Given the description of an element on the screen output the (x, y) to click on. 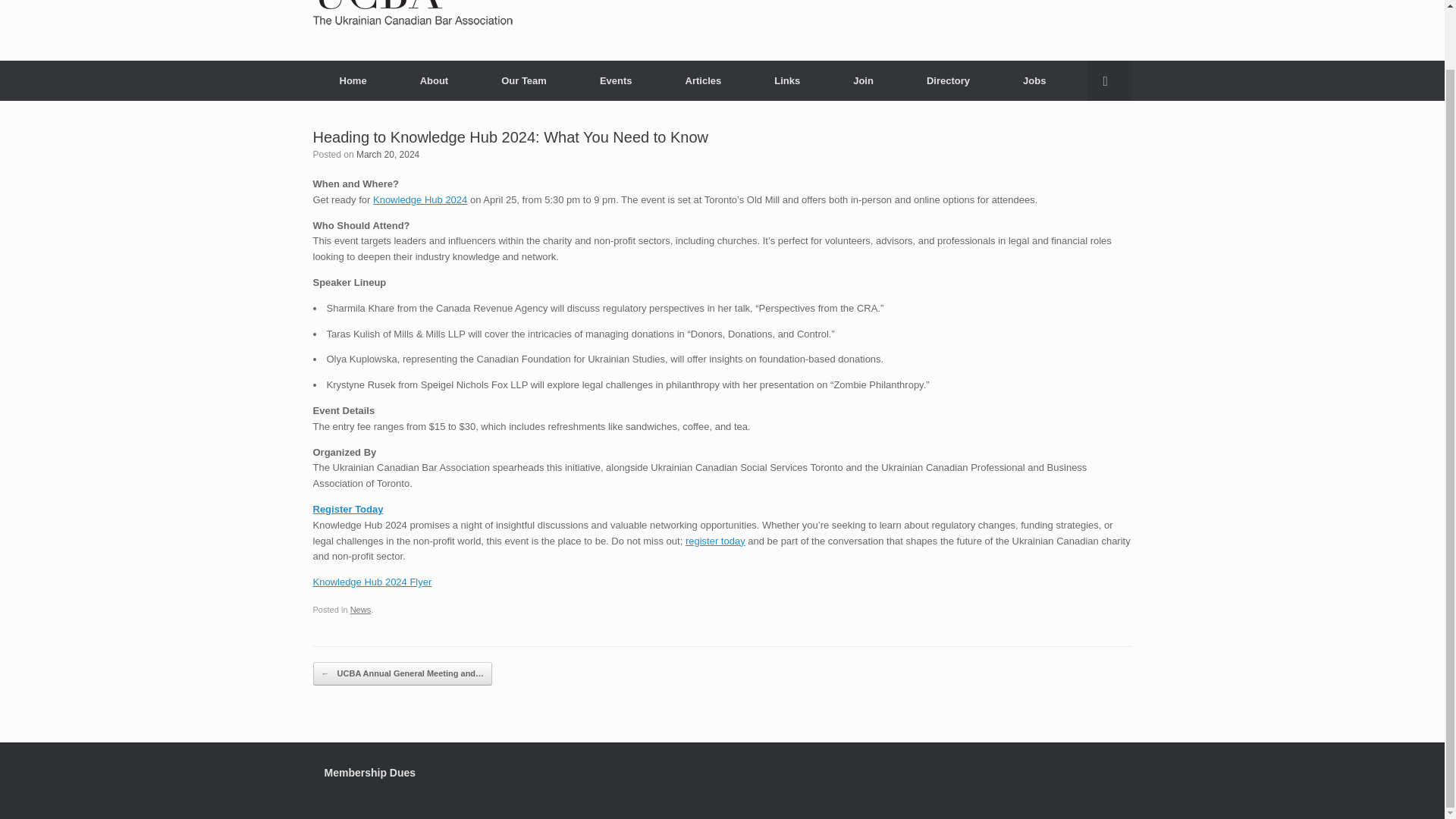
Links (787, 80)
Our Team (523, 80)
register today (715, 541)
Register Today (347, 509)
Directory (947, 80)
6:08 pm (387, 154)
Join (863, 80)
Jobs (1033, 80)
Events (616, 80)
Knowledge Hub 2024 (419, 199)
